Given the description of an element on the screen output the (x, y) to click on. 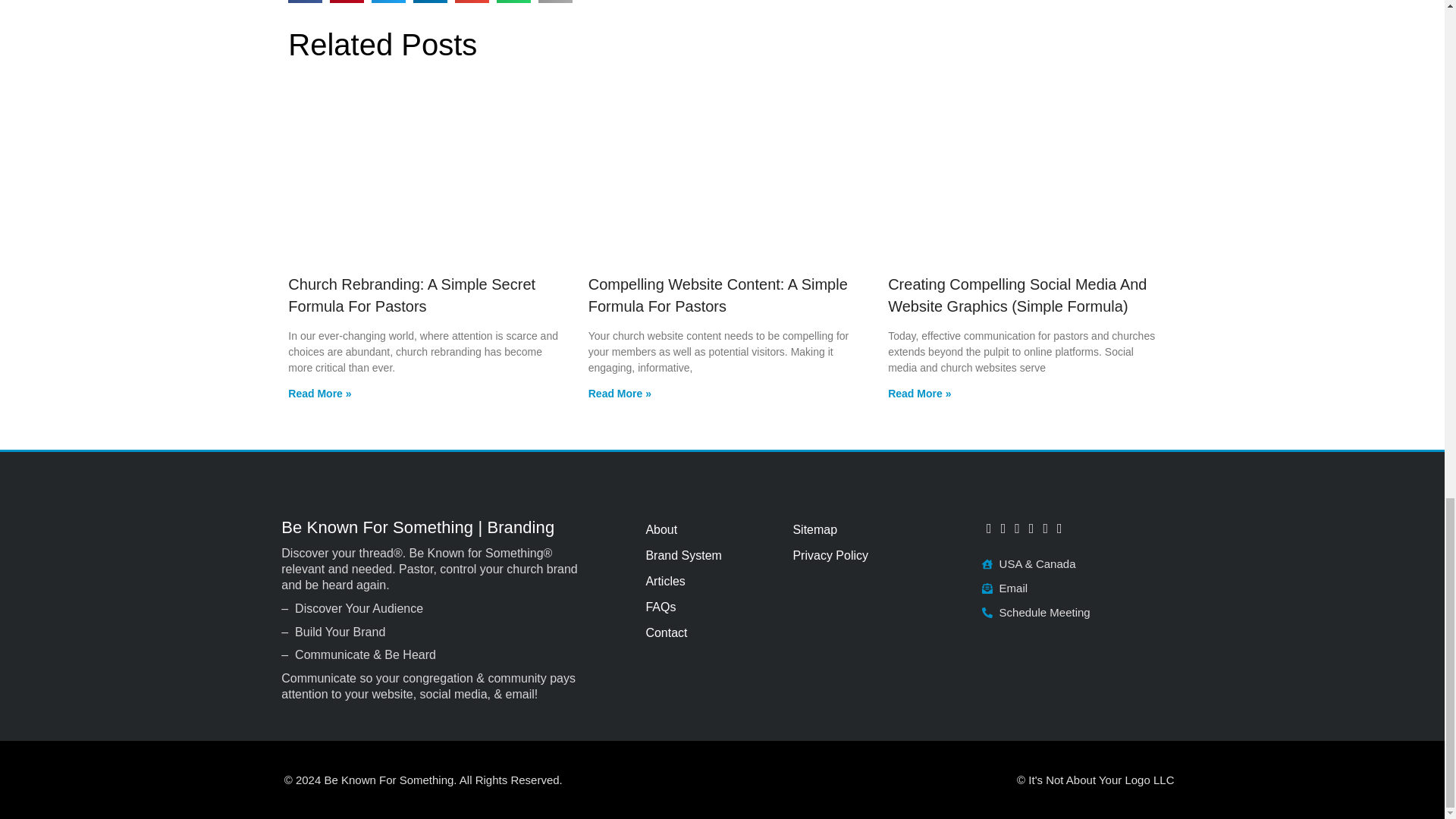
Church Rebranding: A Simple Secret Formula For Pastors (411, 295)
About (709, 529)
Contact (709, 632)
Articles (709, 581)
Compelling Website Content: A Simple Formula For Pastors (717, 295)
Brand System (709, 555)
FAQs (709, 606)
